Given the description of an element on the screen output the (x, y) to click on. 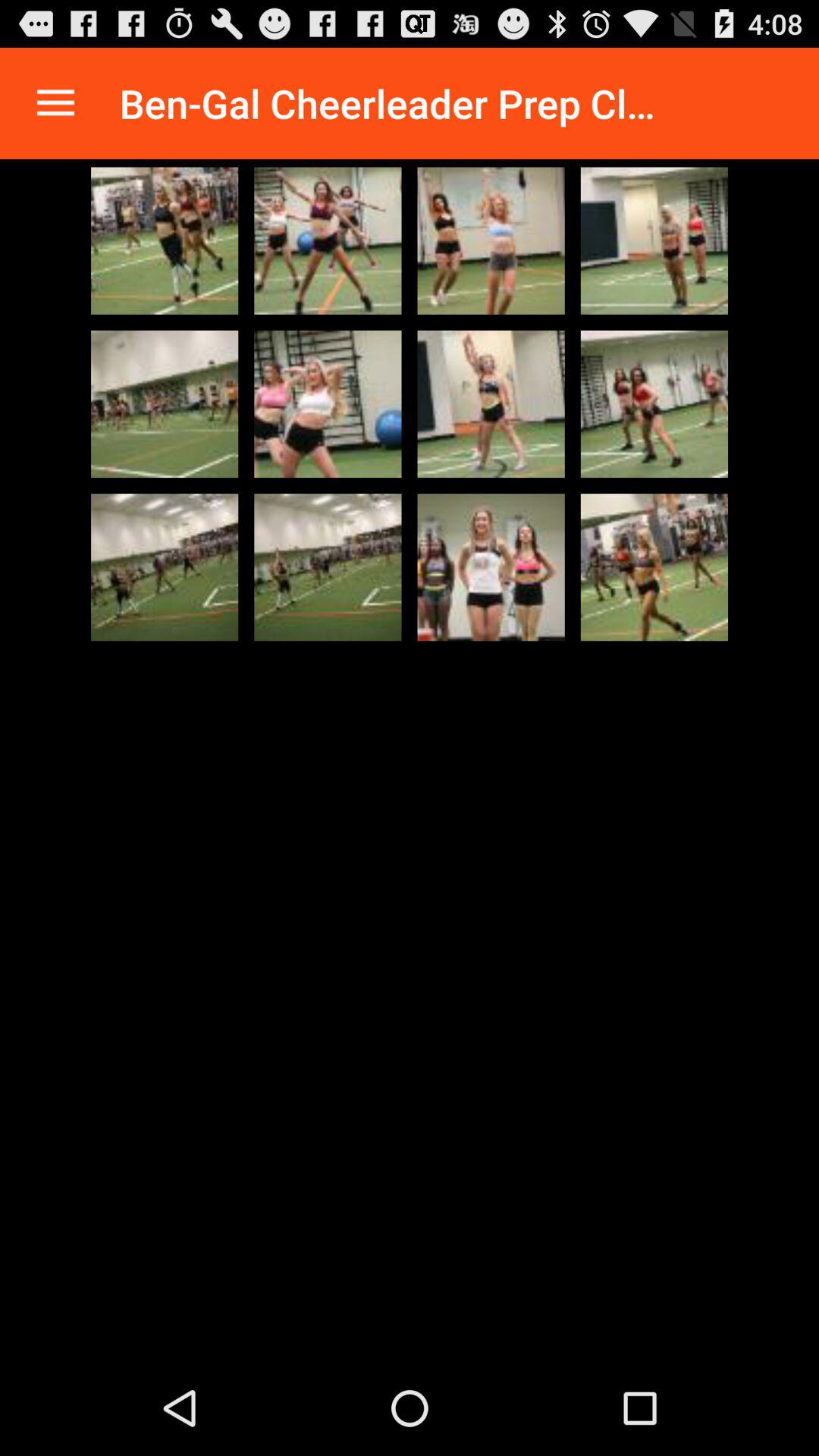
view video selected (327, 566)
